Given the description of an element on the screen output the (x, y) to click on. 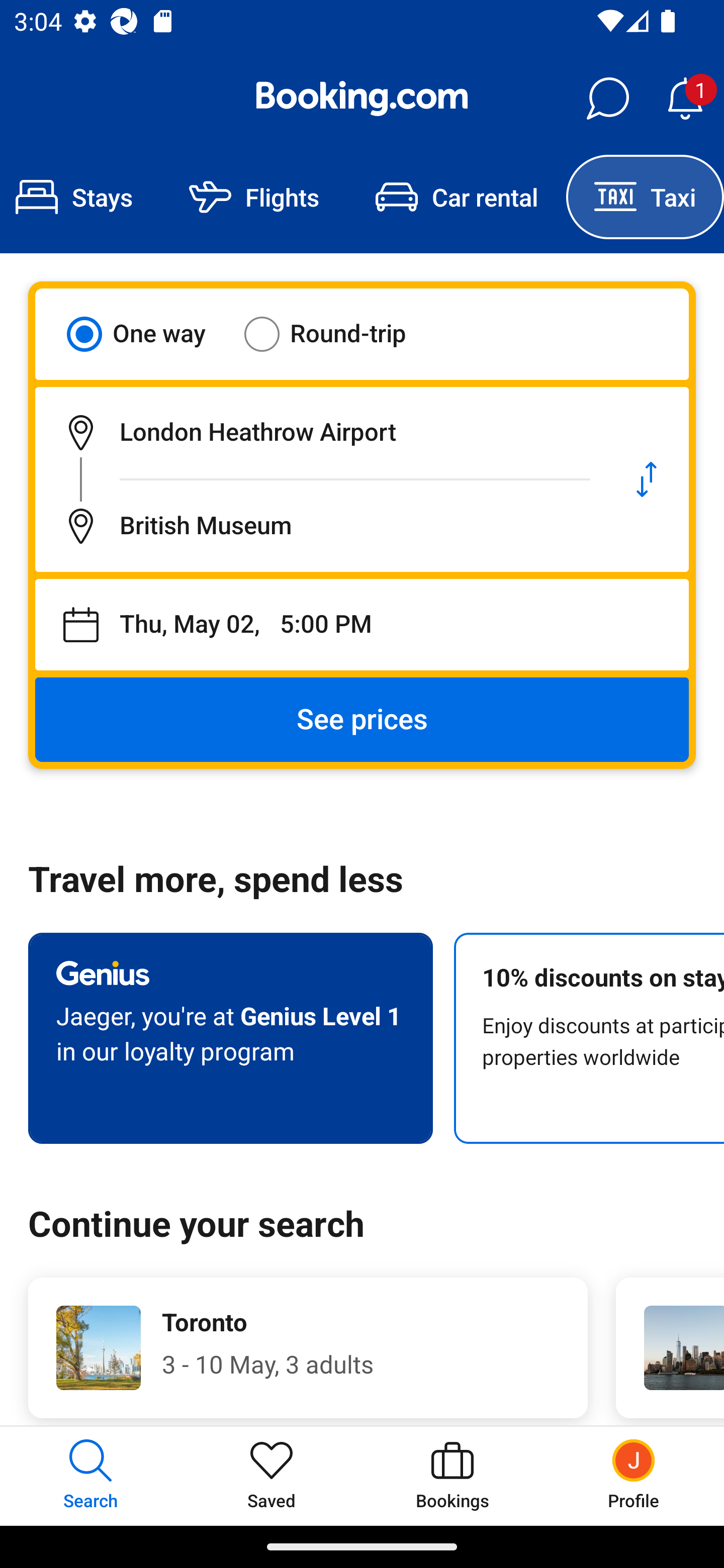
Messages (607, 98)
Notifications (685, 98)
Stays (80, 197)
Flights (253, 197)
Car rental (456, 197)
Taxi (645, 197)
Round-trip (337, 333)
Pick-up location: London Heathrow Airport (319, 432)
Swap pick-up location and destination (646, 479)
Destination: British Museum (319, 525)
Pick-up date: Thu, May 02 5:00 PM (361, 624)
See prices (361, 719)
Toronto 3 - 10 May, 3 adults (307, 1347)
Saved (271, 1475)
Bookings (452, 1475)
Profile (633, 1475)
